Given the description of an element on the screen output the (x, y) to click on. 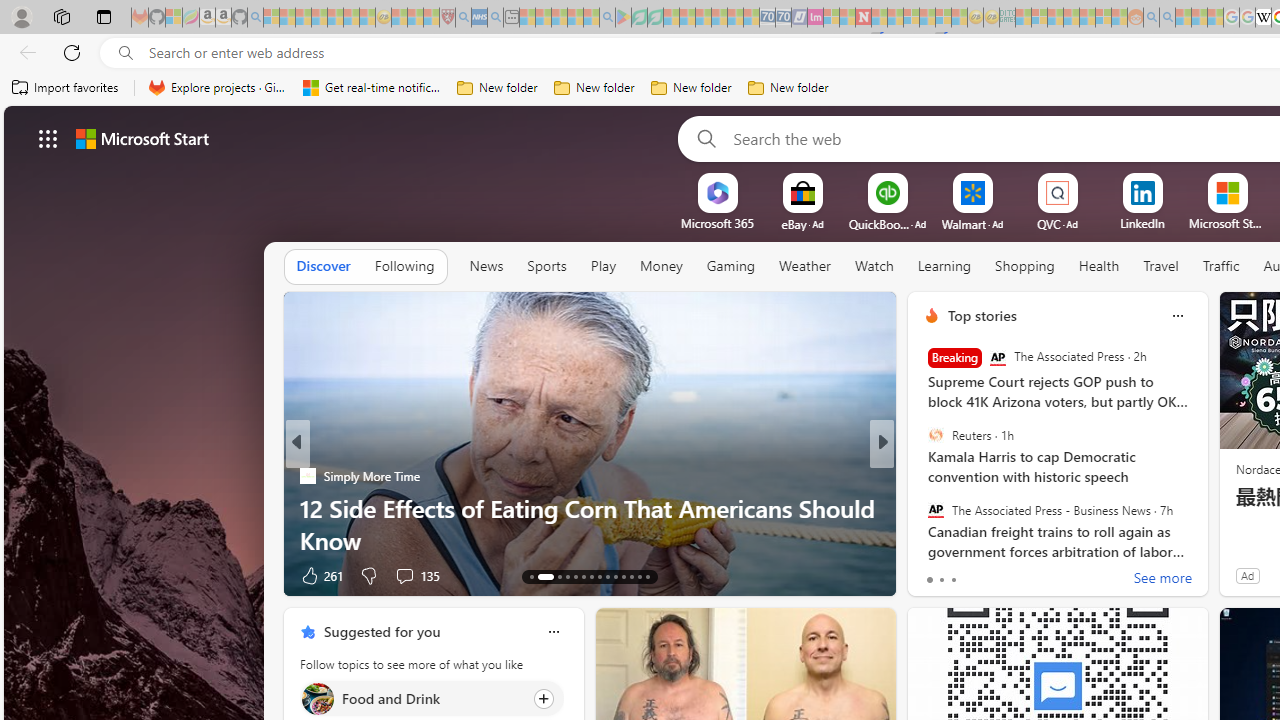
View comments 3 Comment (1019, 574)
Lucy Diamond (923, 507)
Bluey: Let's Play! - Apps on Google Play - Sleeping (623, 17)
Money (661, 267)
Nordace (938, 475)
Traffic (1220, 267)
The Associated Press (997, 358)
Dagens News (US) (923, 507)
